Given the description of an element on the screen output the (x, y) to click on. 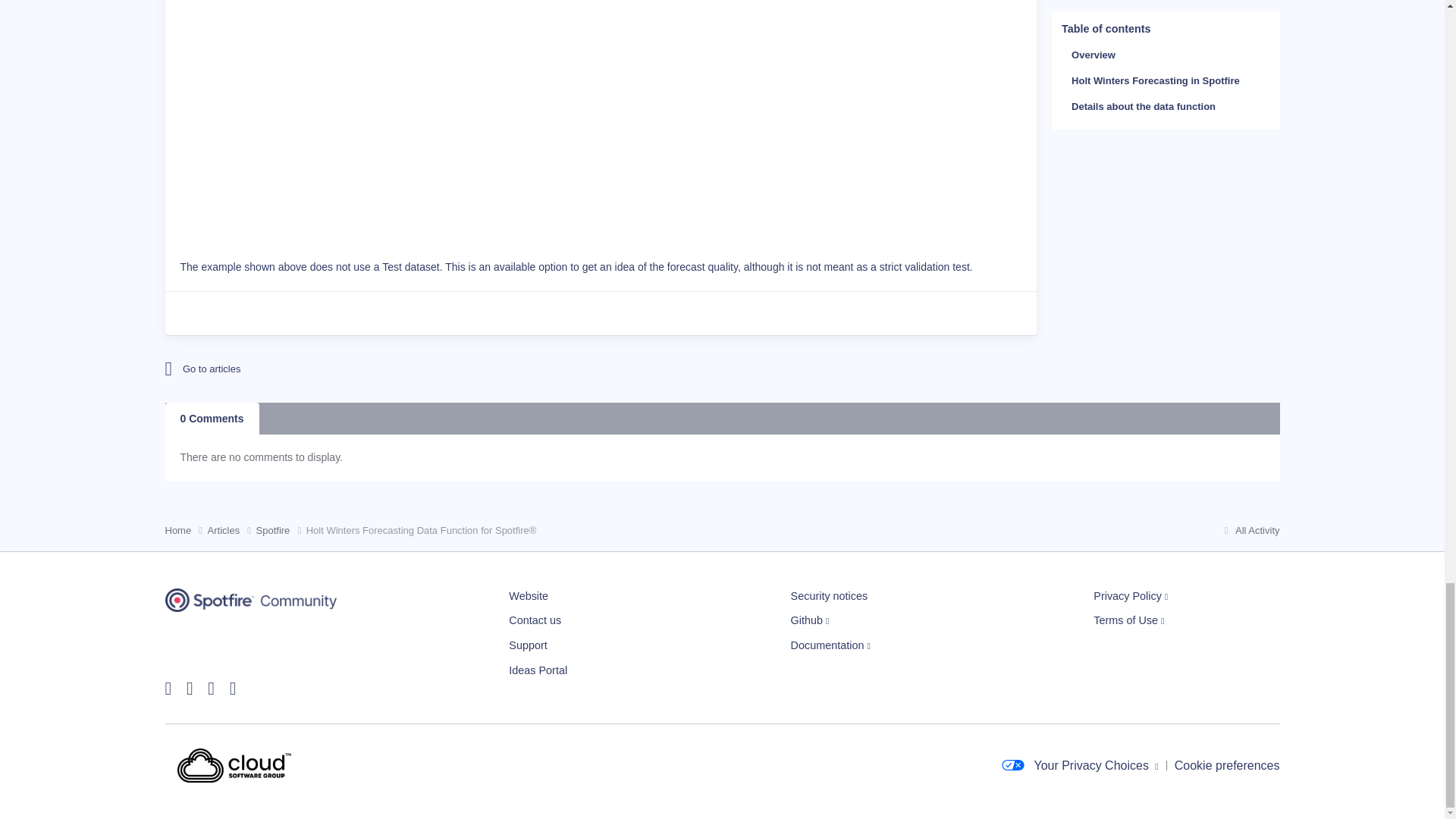
0 Comments (212, 418)
Go to Spotfire (297, 369)
